Given the description of an element on the screen output the (x, y) to click on. 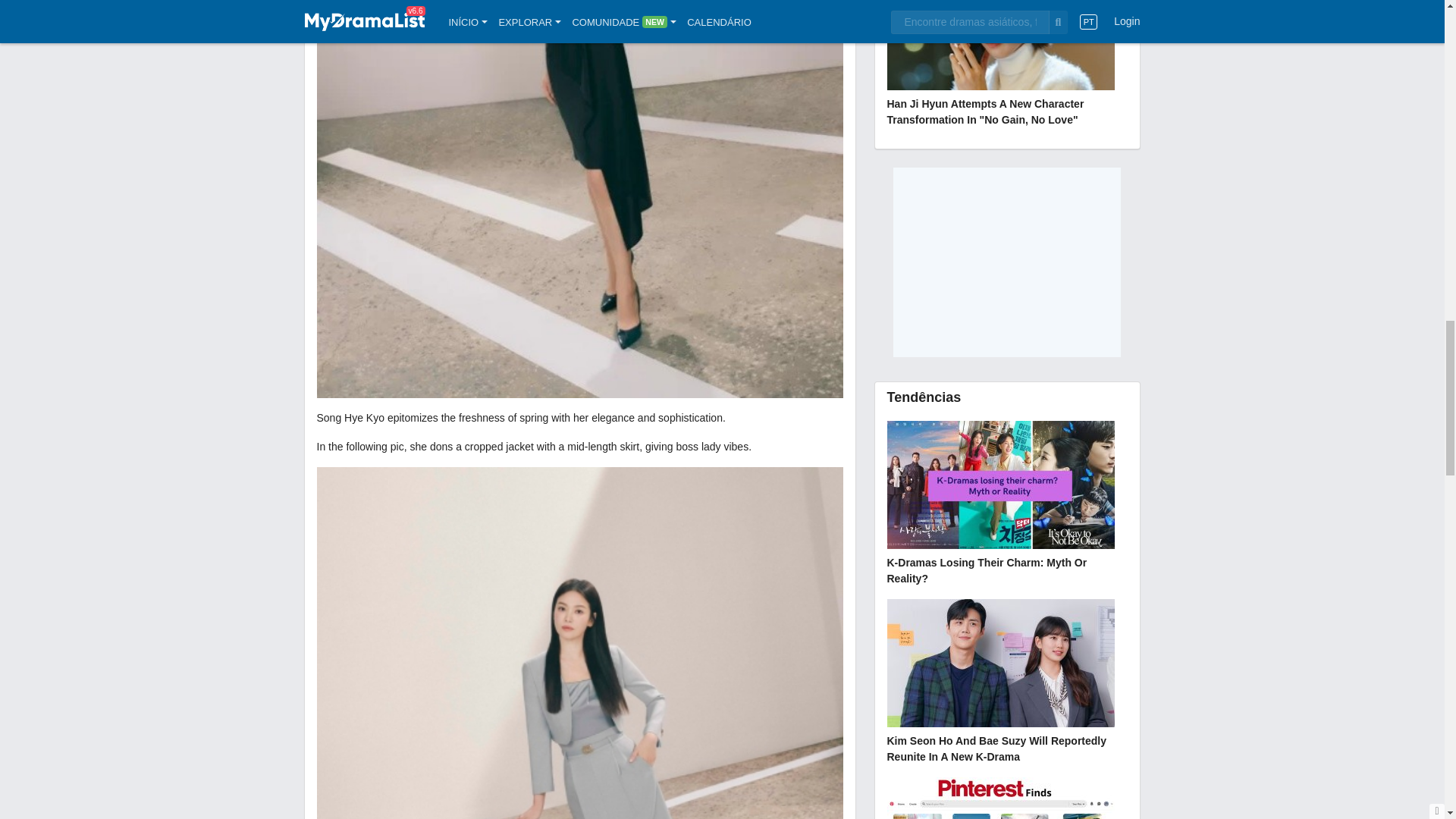
K-Dramas Losing Their Charm: Myth or Reality? (1007, 504)
Pinterest Drama Finds: Enchanted by an Image (1007, 798)
Han Ji Hyun Attempts a New Character Transformation in  (1007, 65)
